Given the description of an element on the screen output the (x, y) to click on. 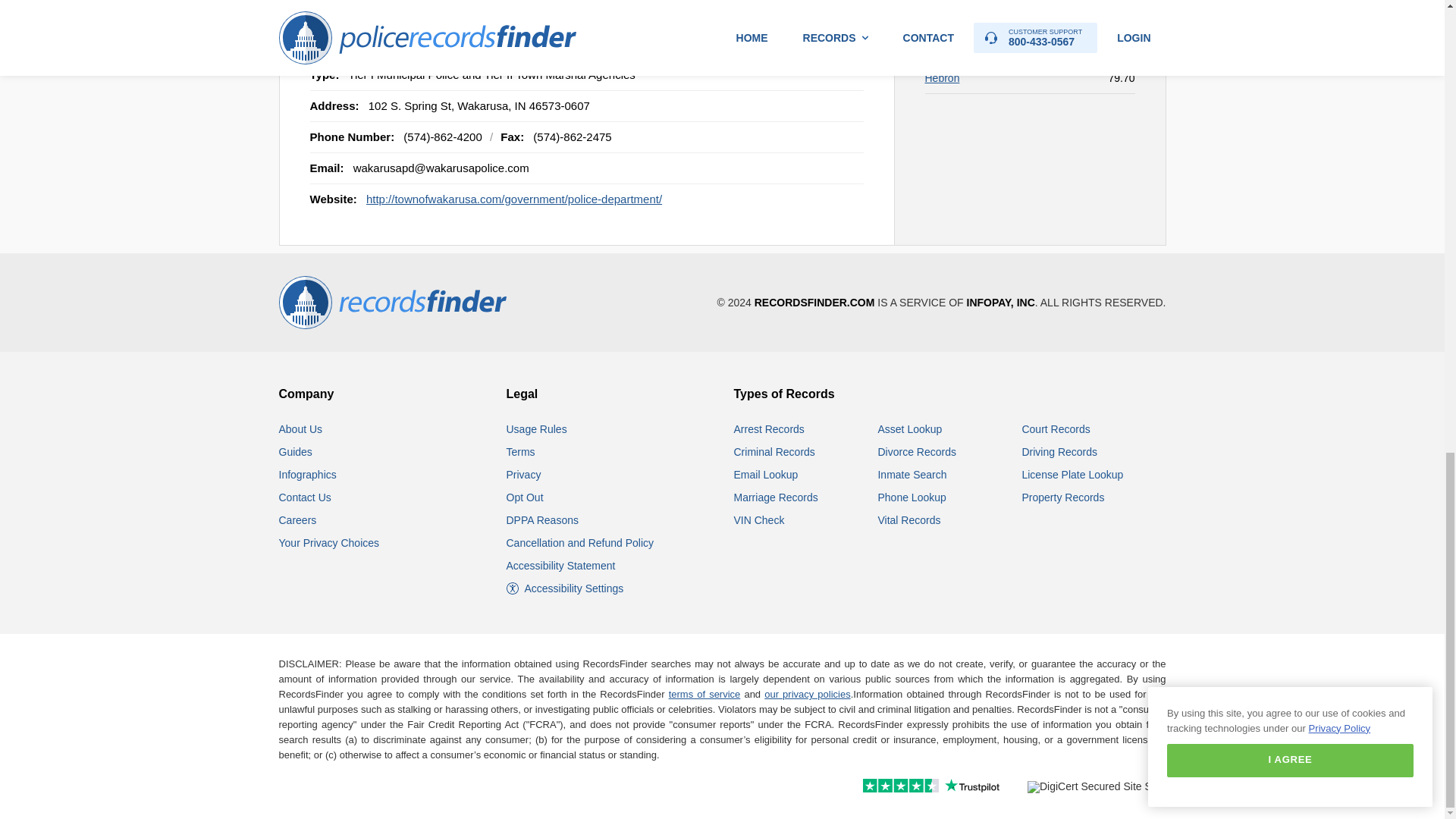
RecordsFinder.com DPPA Reasons (542, 520)
RecordsFinder.com Accessibility Statement (560, 565)
RecordsFinder.com Terms and Conditions (520, 451)
RecordsFinder.com Cancellation and Refund Policy (579, 542)
RecordsFinder.com Usage Rules (536, 428)
RecordsFinder.com Opt Out Instructions (524, 497)
RecordsFinder.com Privacy Policy (523, 474)
Contact RecordsFinder.com (305, 497)
Guides and How tos (296, 451)
Careers at RecordsFinder.com (298, 520)
